Given the description of an element on the screen output the (x, y) to click on. 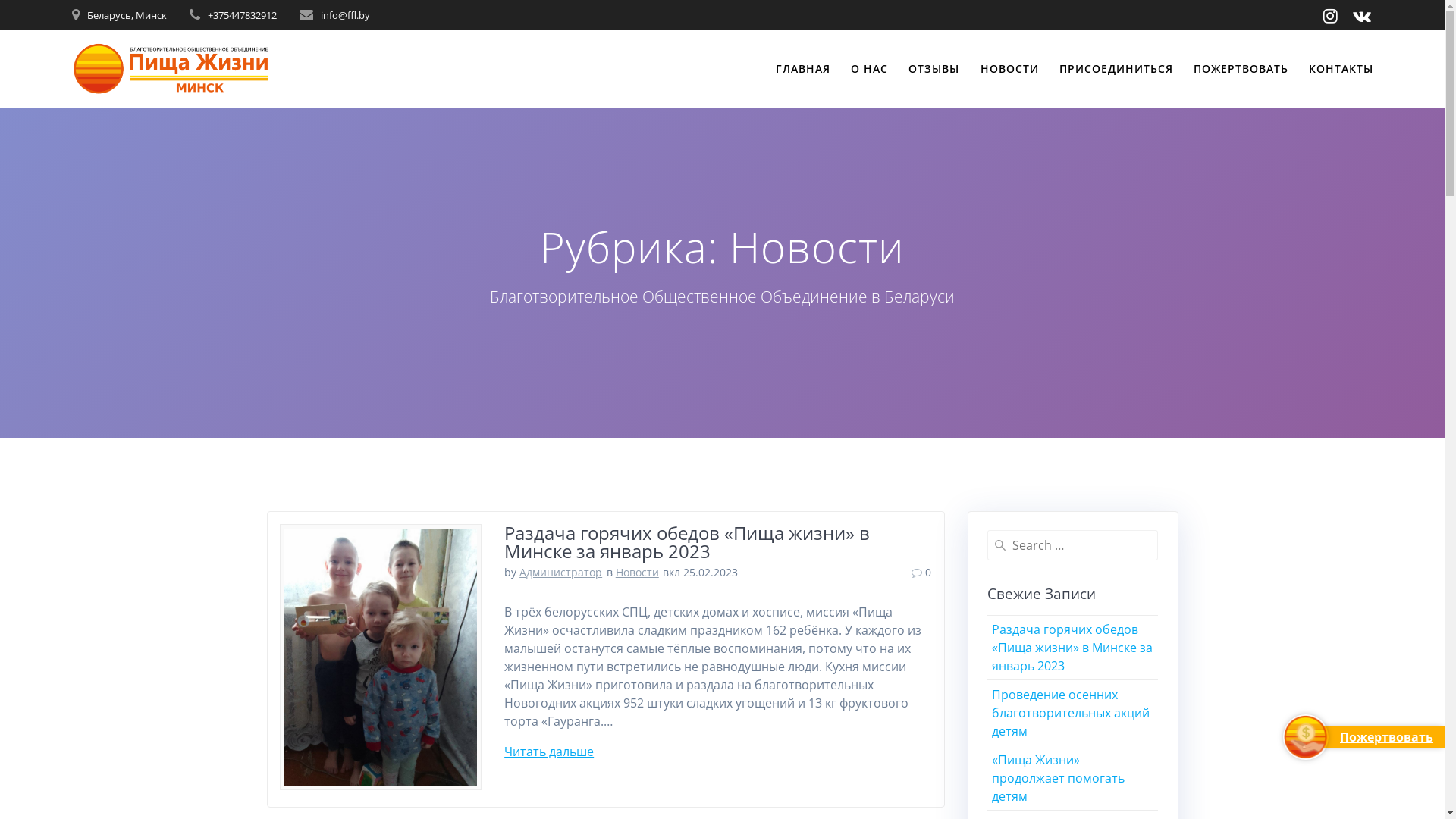
info@ffl.by Element type: text (345, 14)
+375447832912 Element type: text (241, 14)
